Given the description of an element on the screen output the (x, y) to click on. 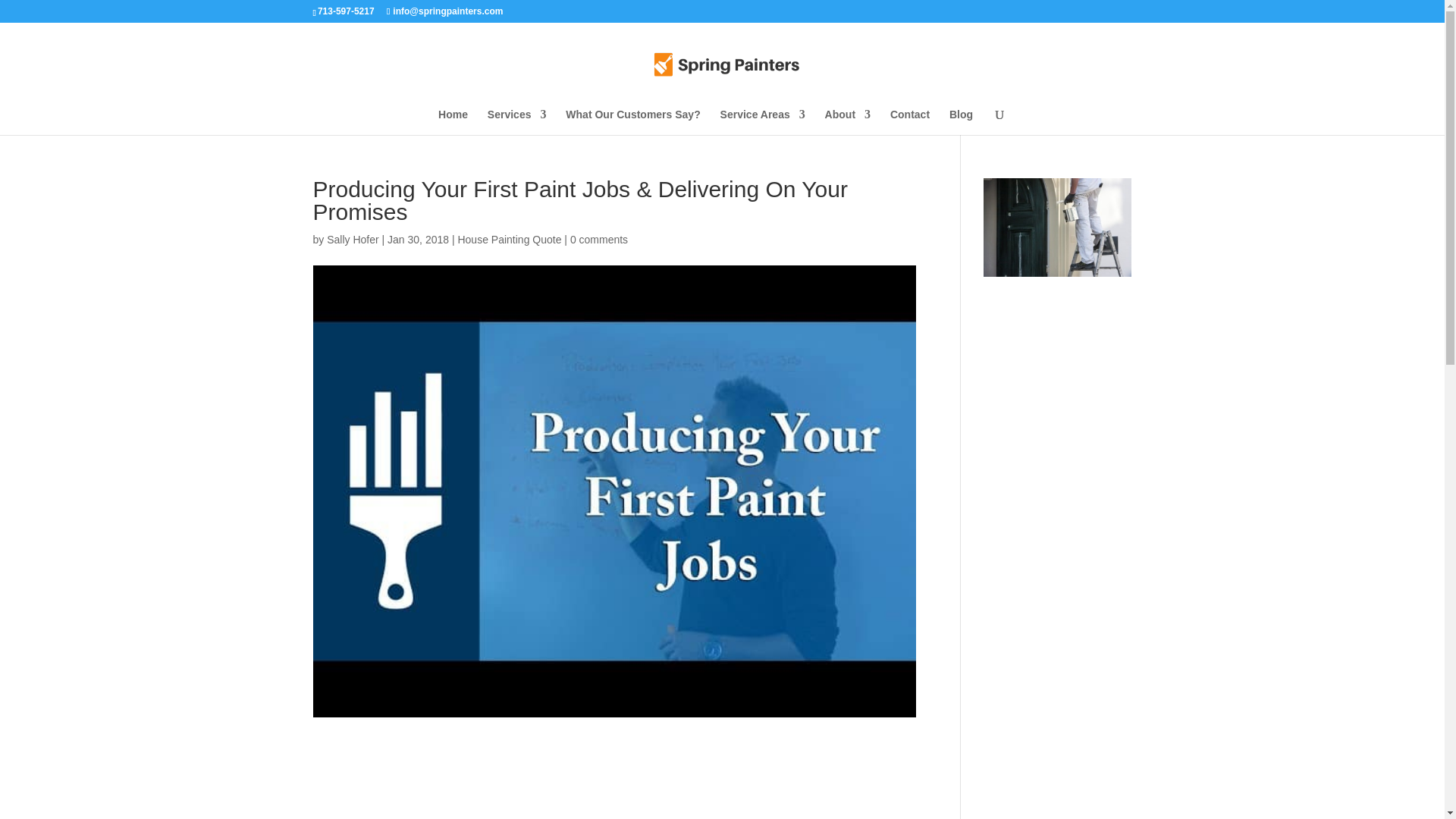
Home (452, 121)
About (847, 121)
Blog (960, 121)
Services (517, 121)
Service Areas (762, 121)
What Our Customers Say? (633, 121)
Posts by Sally Hofer (352, 239)
Contact (909, 121)
